Given the description of an element on the screen output the (x, y) to click on. 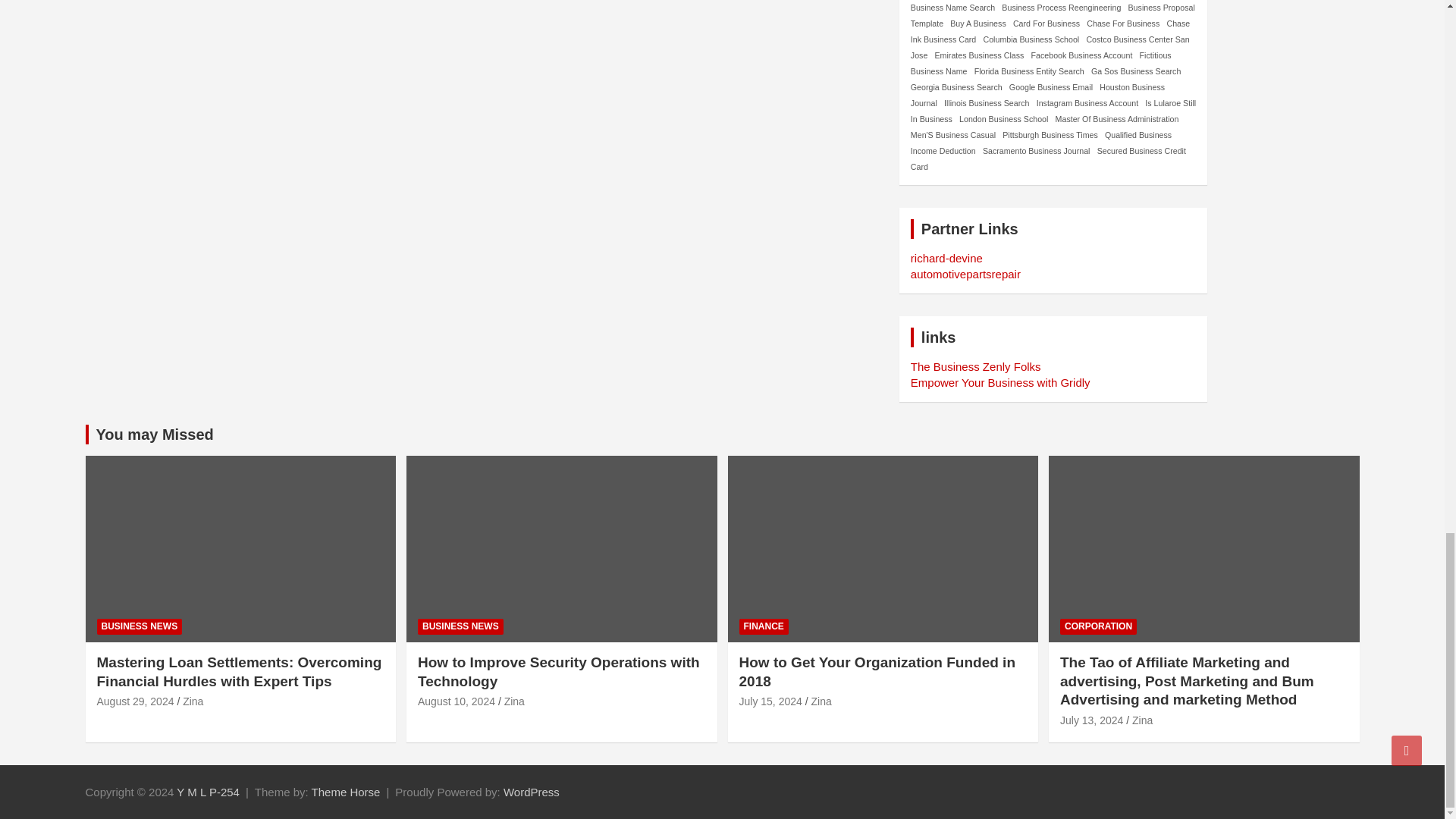
How to Get Your Organization Funded in 2018 (770, 701)
Y M L P-254 (208, 791)
Theme Horse (345, 791)
How to Improve Security Operations with Technology (456, 701)
